Given the description of an element on the screen output the (x, y) to click on. 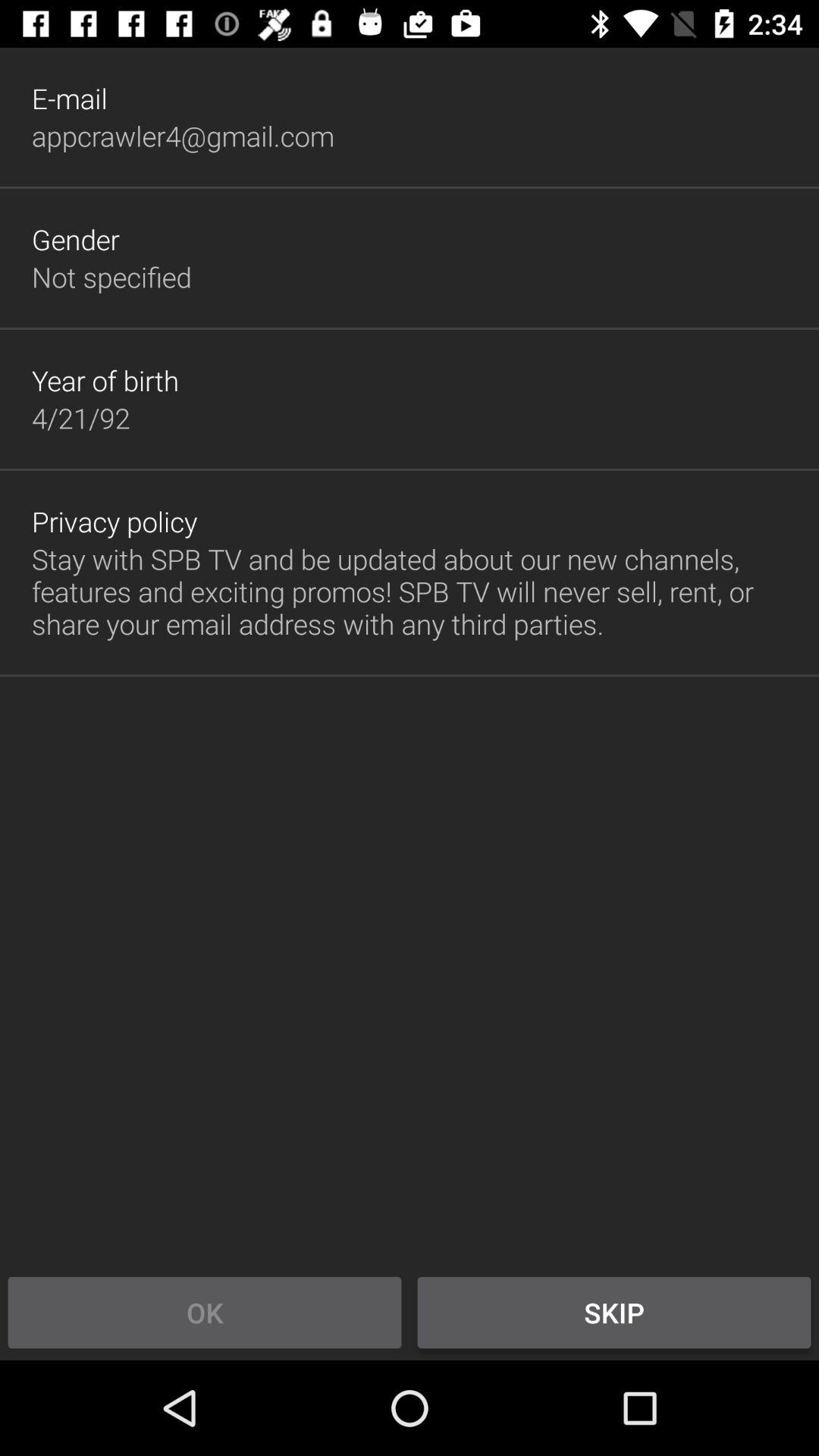
turn on app on the left (114, 521)
